Given the description of an element on the screen output the (x, y) to click on. 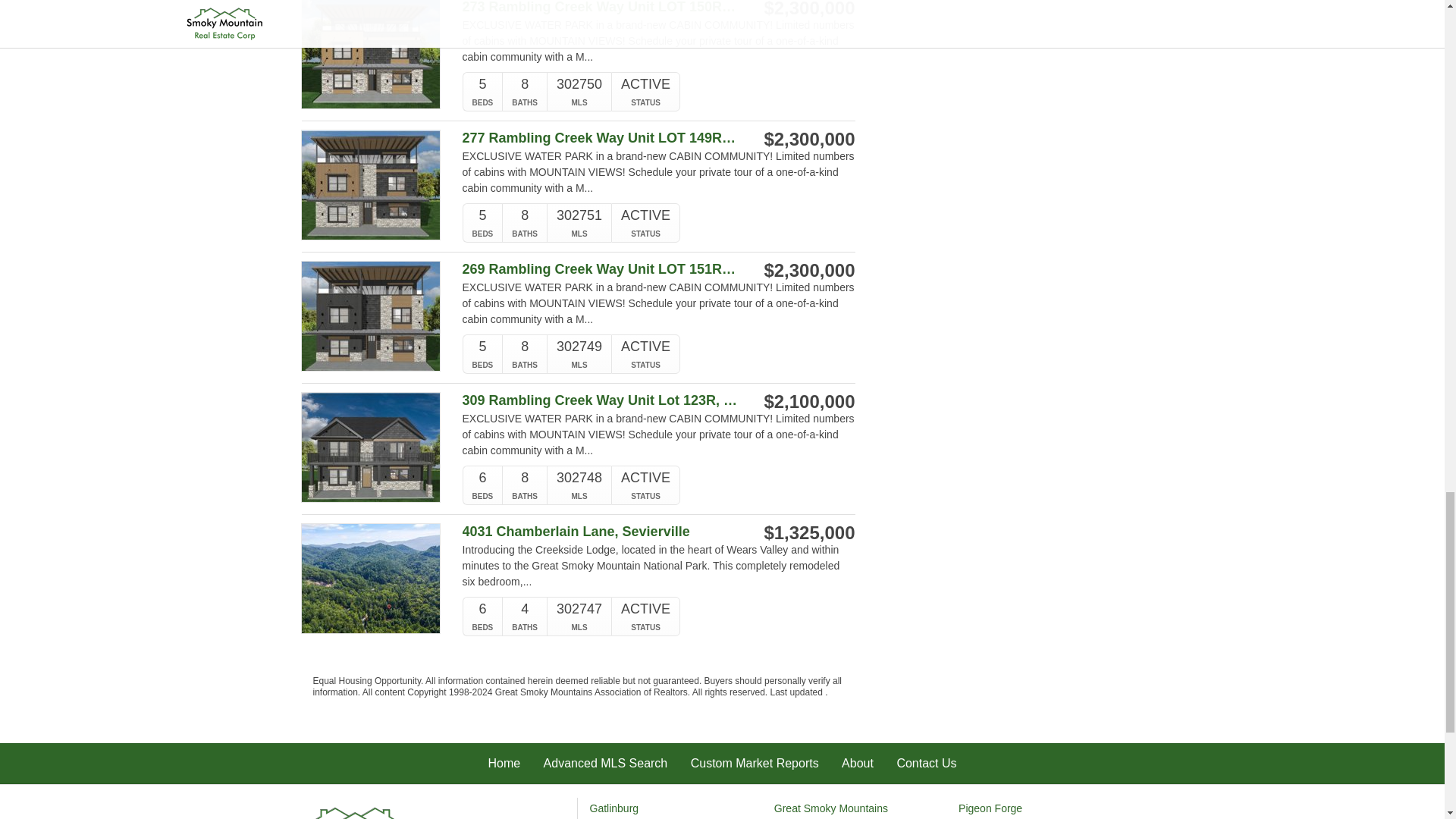
4031 Chamberlain Lane, Sevierville (600, 531)
309 Rambling Creek Way Unit Lot 123R, Sevierville (600, 400)
273 Rambling Creek Way Unit LOT 150R, Sevierville (600, 7)
269 Rambling Creek Way Unit LOT 151R, Sevierville (600, 269)
277 Rambling Creek Way Unit LOT 149R, Sevierville (600, 138)
